Given the description of an element on the screen output the (x, y) to click on. 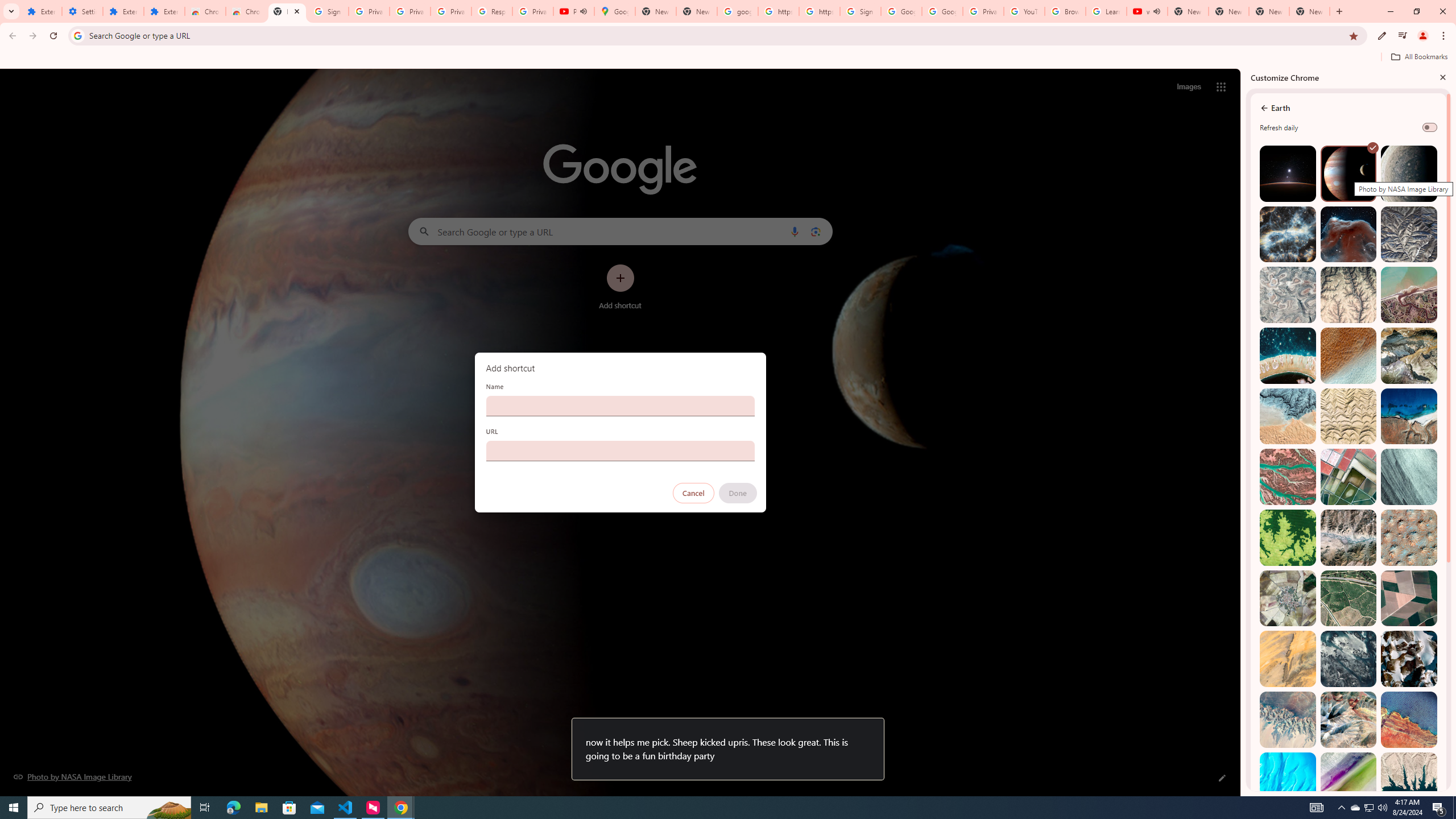
Sanaag, Somalia (1348, 294)
Extensions (41, 11)
Chrome Web Store - Themes (246, 11)
Rikaze, China (1348, 537)
URL (620, 450)
Cancel (693, 493)
Google Maps (614, 11)
Name (620, 405)
Settings (81, 11)
